Given the description of an element on the screen output the (x, y) to click on. 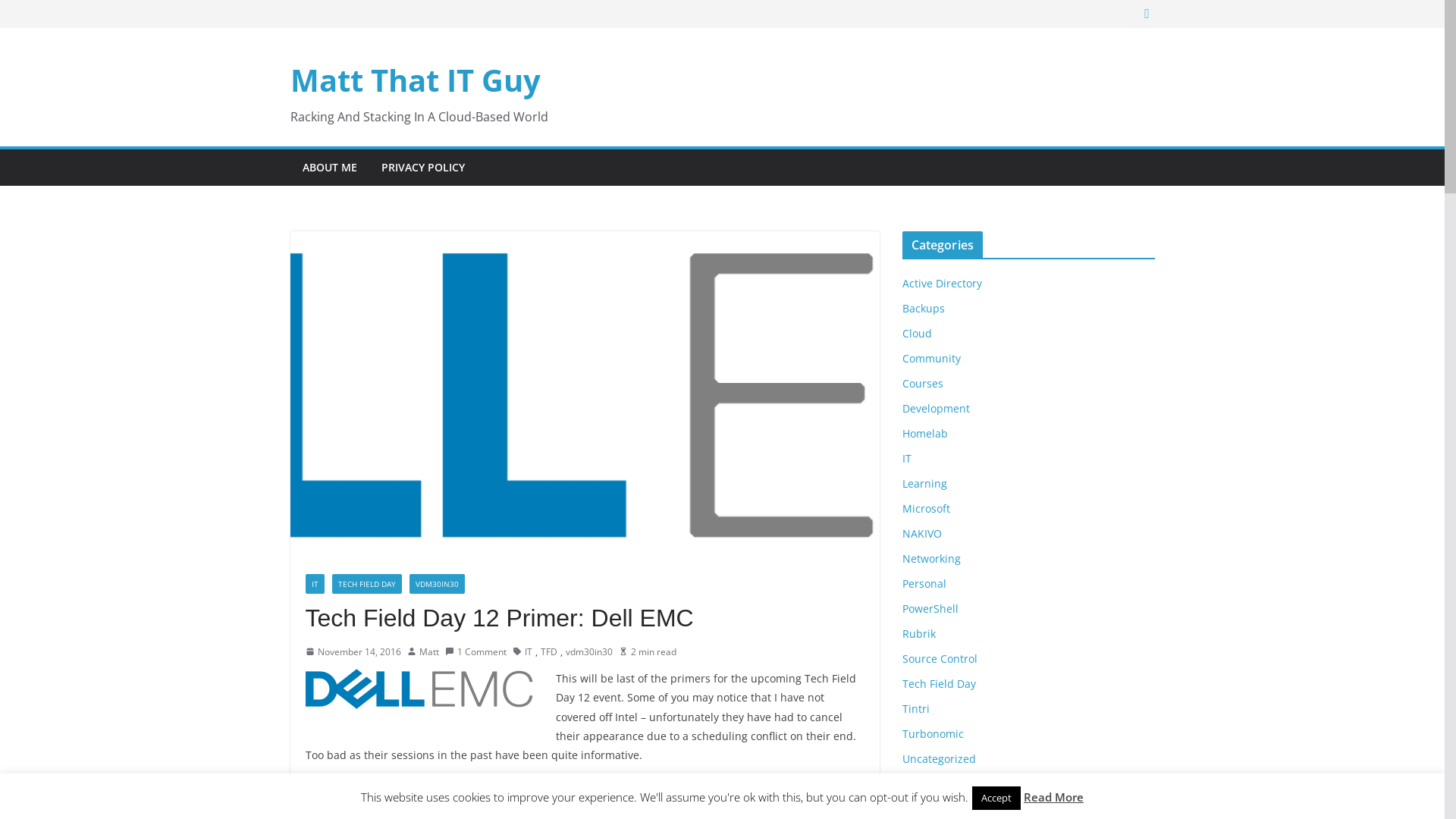
Accept Element type: text (996, 797)
NAKIVO Element type: text (921, 533)
Learning Element type: text (924, 483)
Networking Element type: text (931, 558)
Personal Element type: text (924, 583)
Matt Element type: text (428, 651)
Homelab Element type: text (924, 433)
Active Directory Element type: text (942, 283)
Uncategorized Element type: text (938, 758)
IT Element type: text (906, 458)
TFD Element type: text (547, 651)
IT Element type: text (313, 583)
PowerShell Element type: text (930, 608)
IT Element type: text (528, 651)
Community Element type: text (931, 358)
Turbonomic Element type: text (932, 733)
vdm30in30 Element type: text (588, 651)
TECH FIELD DAY Element type: text (366, 583)
VDM30in30 Element type: text (931, 808)
VAAI Element type: text (913, 783)
Read More Element type: text (1053, 796)
November 14, 2016 Element type: text (352, 651)
ABOUT ME Element type: text (328, 167)
PRIVACY POLICY Element type: text (422, 167)
Tintri Element type: text (915, 708)
VDM30IN30 Element type: text (436, 583)
Microsoft Element type: text (926, 508)
Development Element type: text (935, 408)
Cloud Element type: text (916, 333)
Matt That IT Guy Element type: text (414, 79)
1 Comment Element type: text (474, 651)
Backups Element type: text (923, 308)
Courses Element type: text (922, 383)
Tech Field Day Element type: text (938, 683)
Source Control Element type: text (939, 658)
Rubrik Element type: text (918, 633)
